Given the description of an element on the screen output the (x, y) to click on. 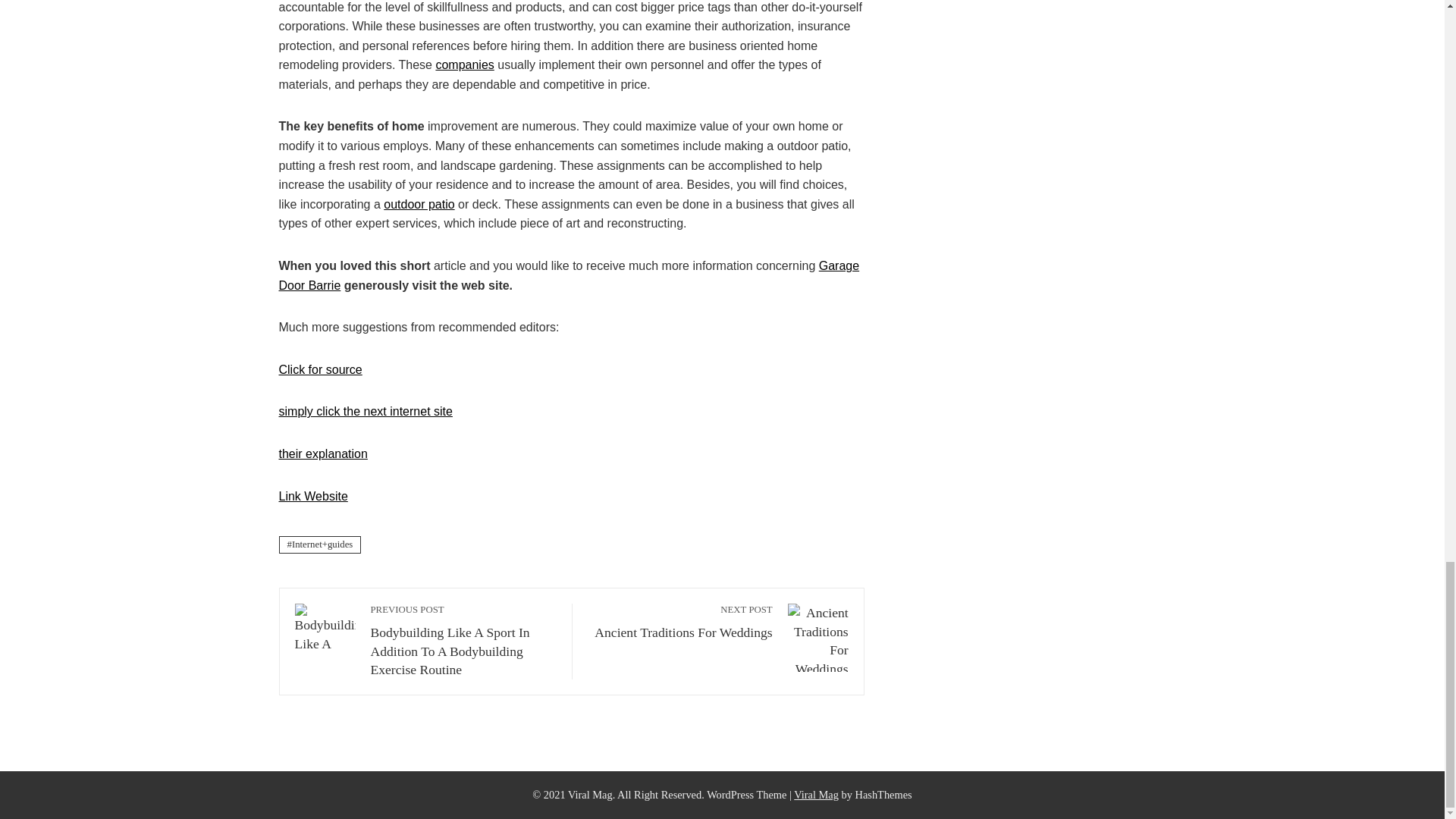
companies (464, 64)
their explanation (323, 453)
Link Website (313, 495)
Download Viral News (815, 794)
Garage Door Barrie (680, 621)
Click for source (569, 275)
simply click the next internet site (320, 369)
outdoor patio (365, 410)
